Given the description of an element on the screen output the (x, y) to click on. 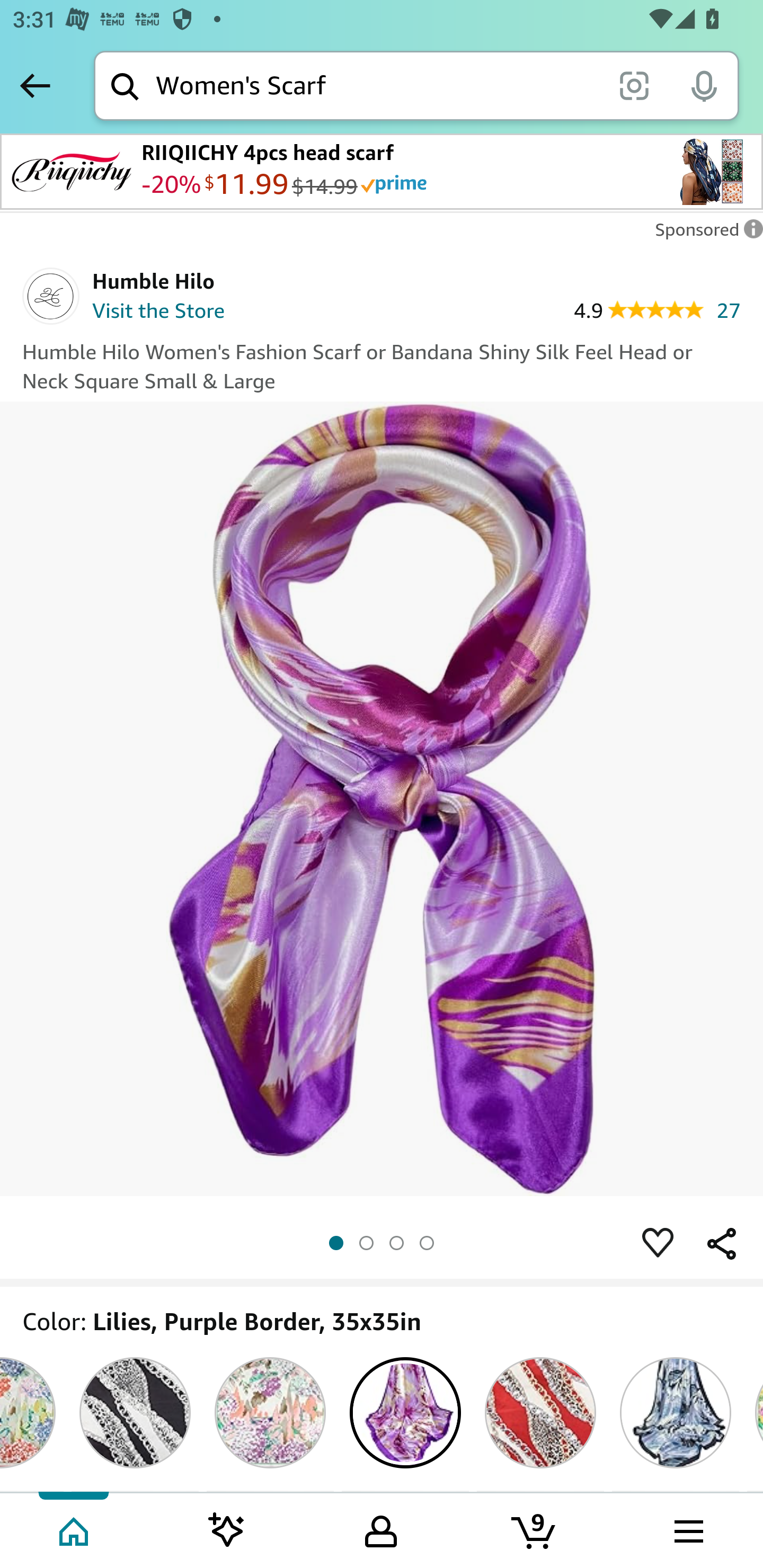
Back (35, 85)
scan it (633, 85)
Leave feedback on Sponsored ad Sponsored  (703, 234)
4.9 27 4.9  27 (656, 309)
Visit the Store, Humble Hilo (157, 312)
Heart to save an item to your default list (657, 1243)
Home Tab 1 of 5 (75, 1529)
Inspire feed Tab 2 of 5 (227, 1529)
Your Amazon.com Tab 3 of 5 (380, 1529)
Cart 9 items Tab 4 of 5 9 (534, 1529)
Browse menu Tab 5 of 5 (687, 1529)
